Given the description of an element on the screen output the (x, y) to click on. 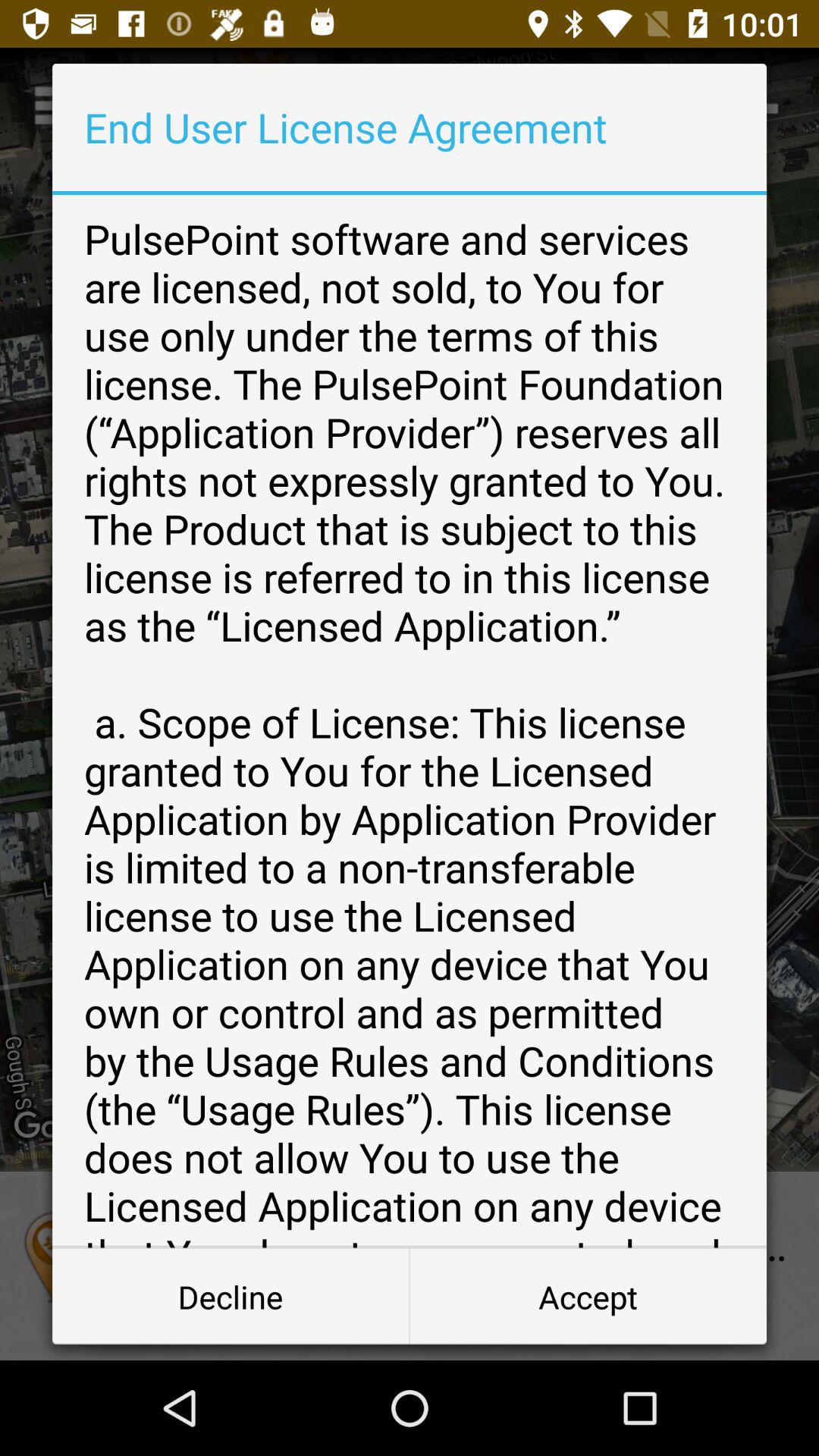
jump to the decline icon (230, 1296)
